Given the description of an element on the screen output the (x, y) to click on. 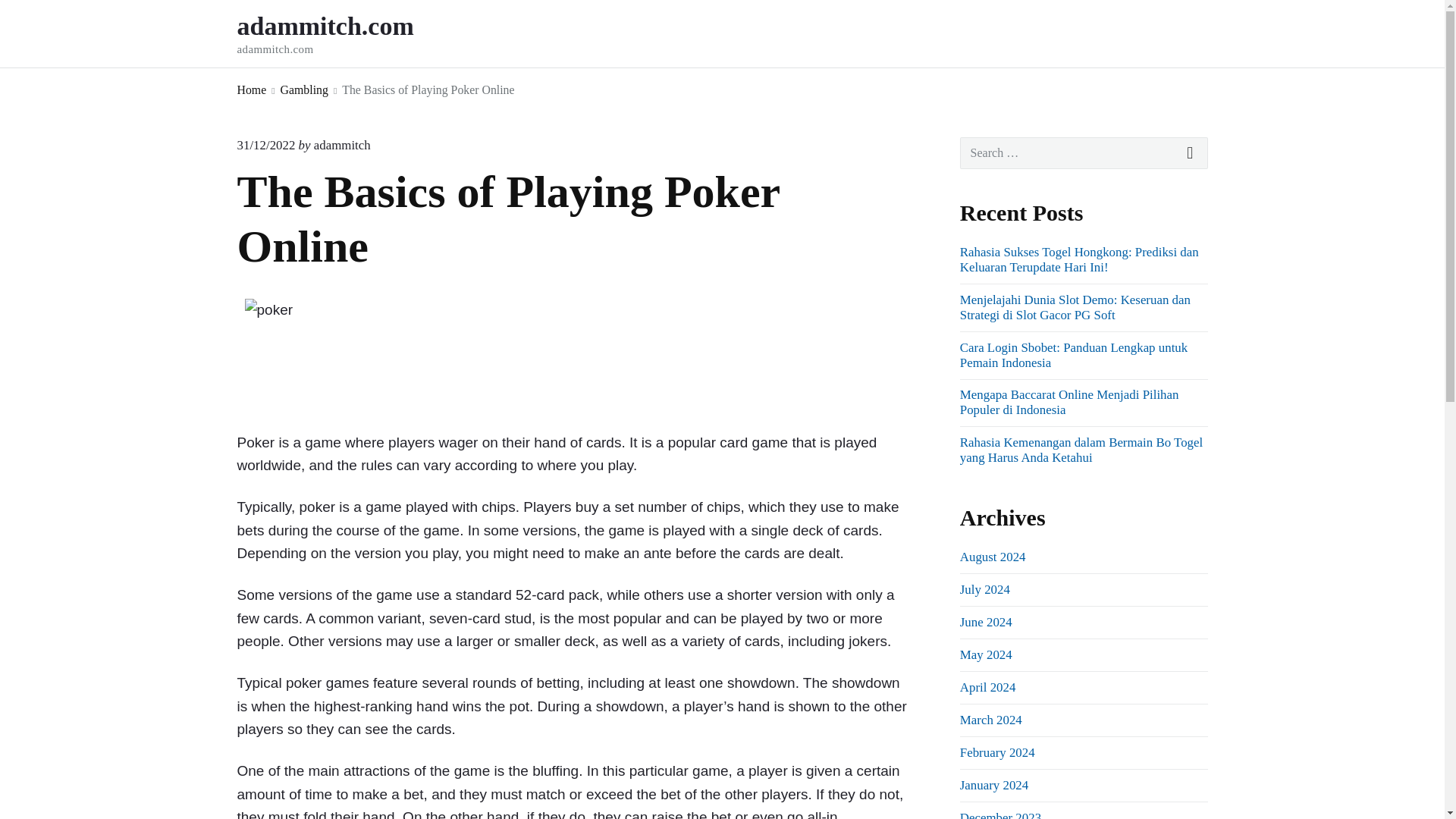
January 2024 (993, 785)
Mengapa Baccarat Online Menjadi Pilihan Populer di Indonesia (1069, 401)
December 2023 (1000, 814)
Gambling (305, 89)
Cara Login Sbobet: Panduan Lengkap untuk Pemain Indonesia (1073, 355)
Home (250, 89)
SEARCH (344, 33)
adammitch (1190, 152)
